Given the description of an element on the screen output the (x, y) to click on. 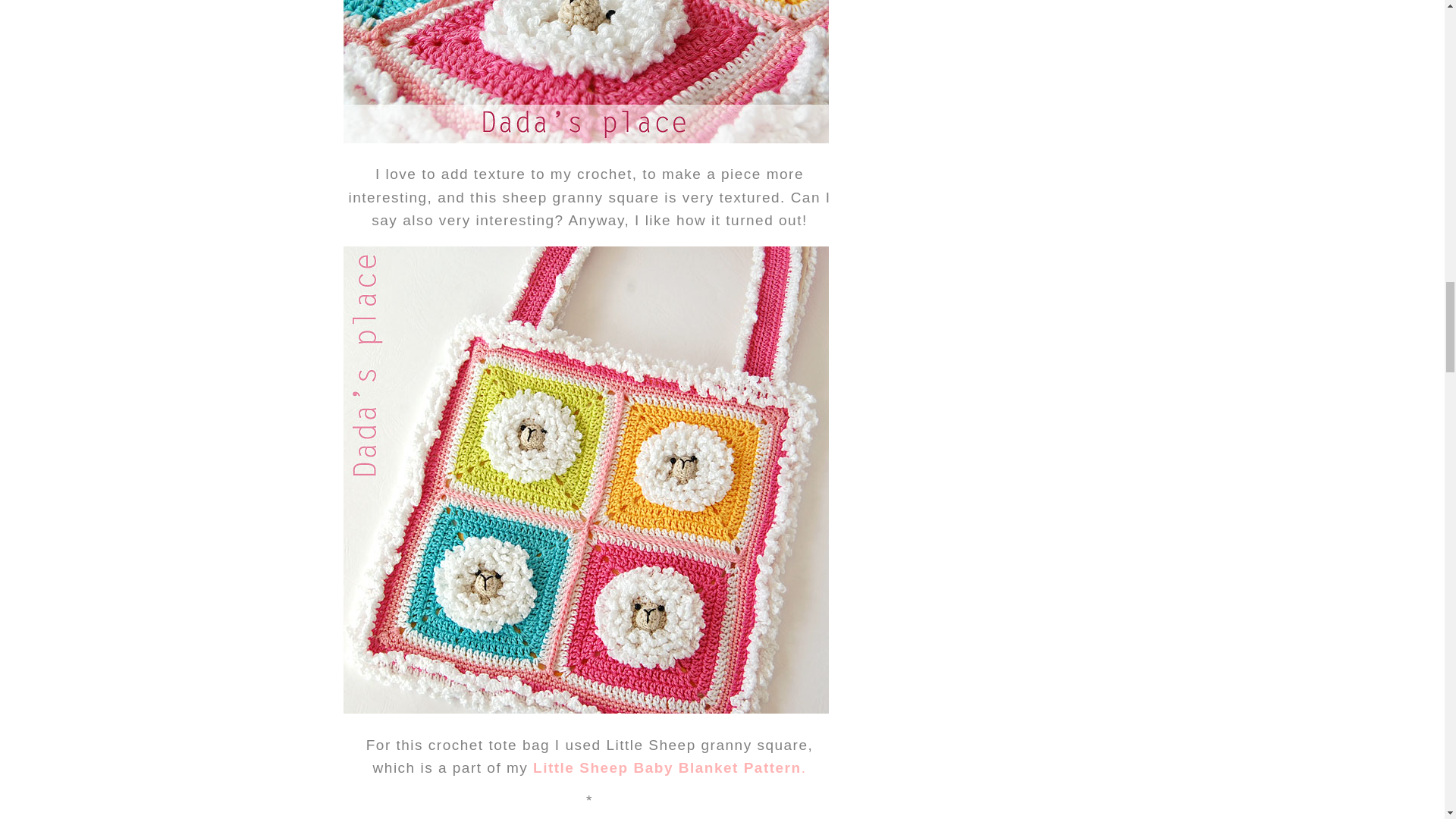
Little Sheep Crochet Tote Bag  (585, 71)
Little Sheep Baby Blanket Pattern. (669, 767)
